Given the description of an element on the screen output the (x, y) to click on. 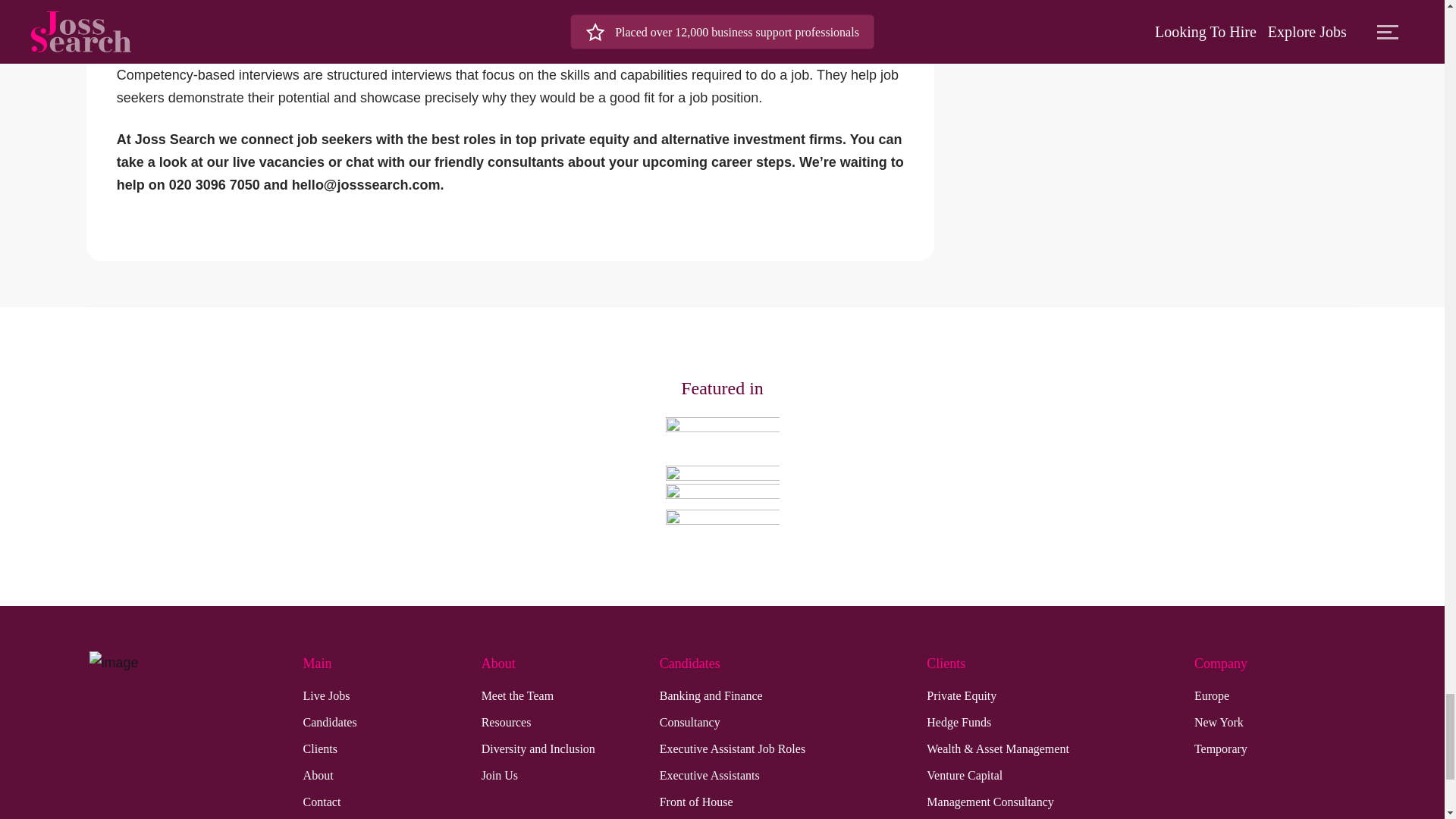
Candidates (329, 722)
Clients (319, 749)
Live Jobs (326, 695)
About (317, 775)
